Given the description of an element on the screen output the (x, y) to click on. 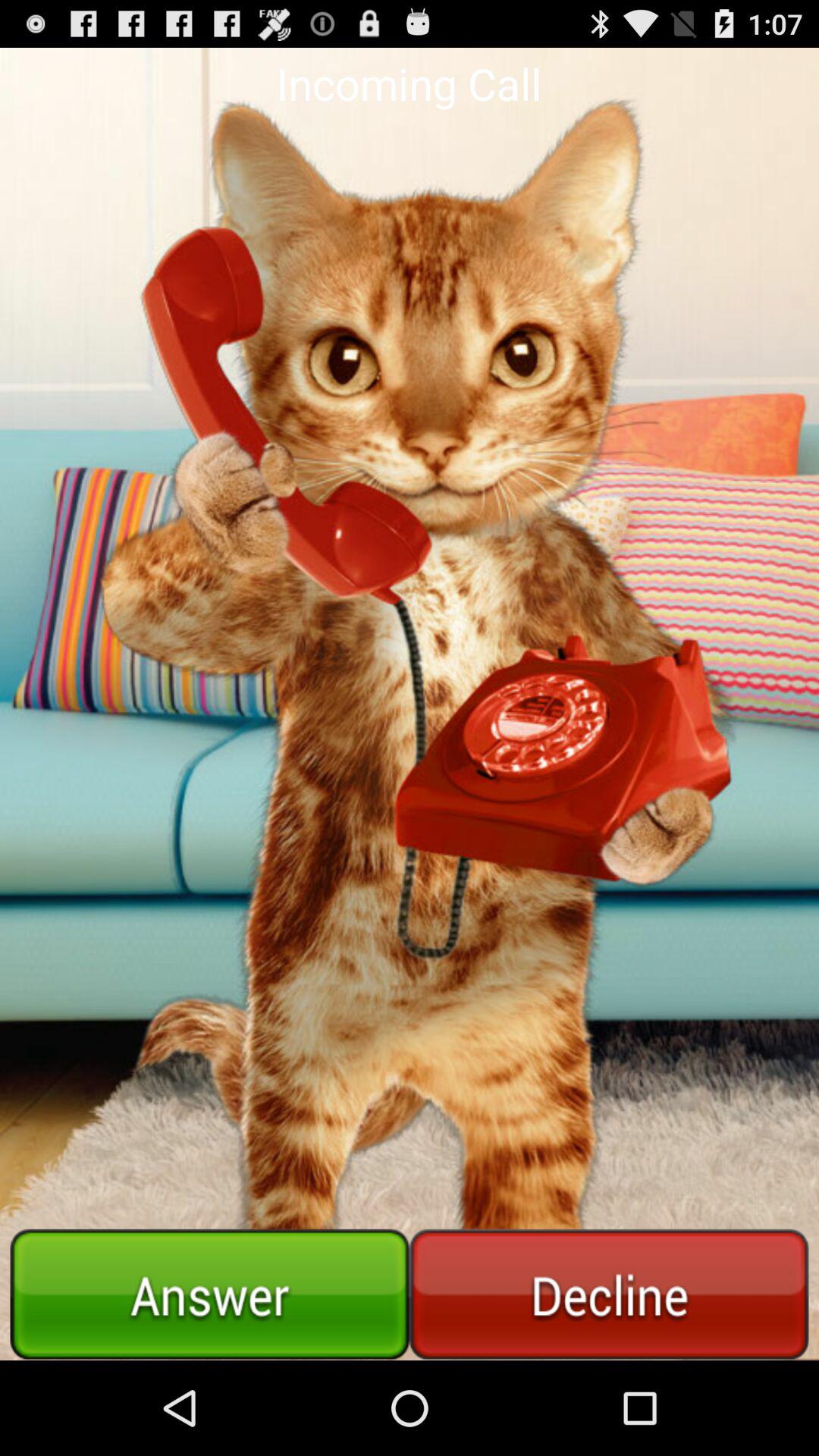
reject the call (608, 1294)
